Given the description of an element on the screen output the (x, y) to click on. 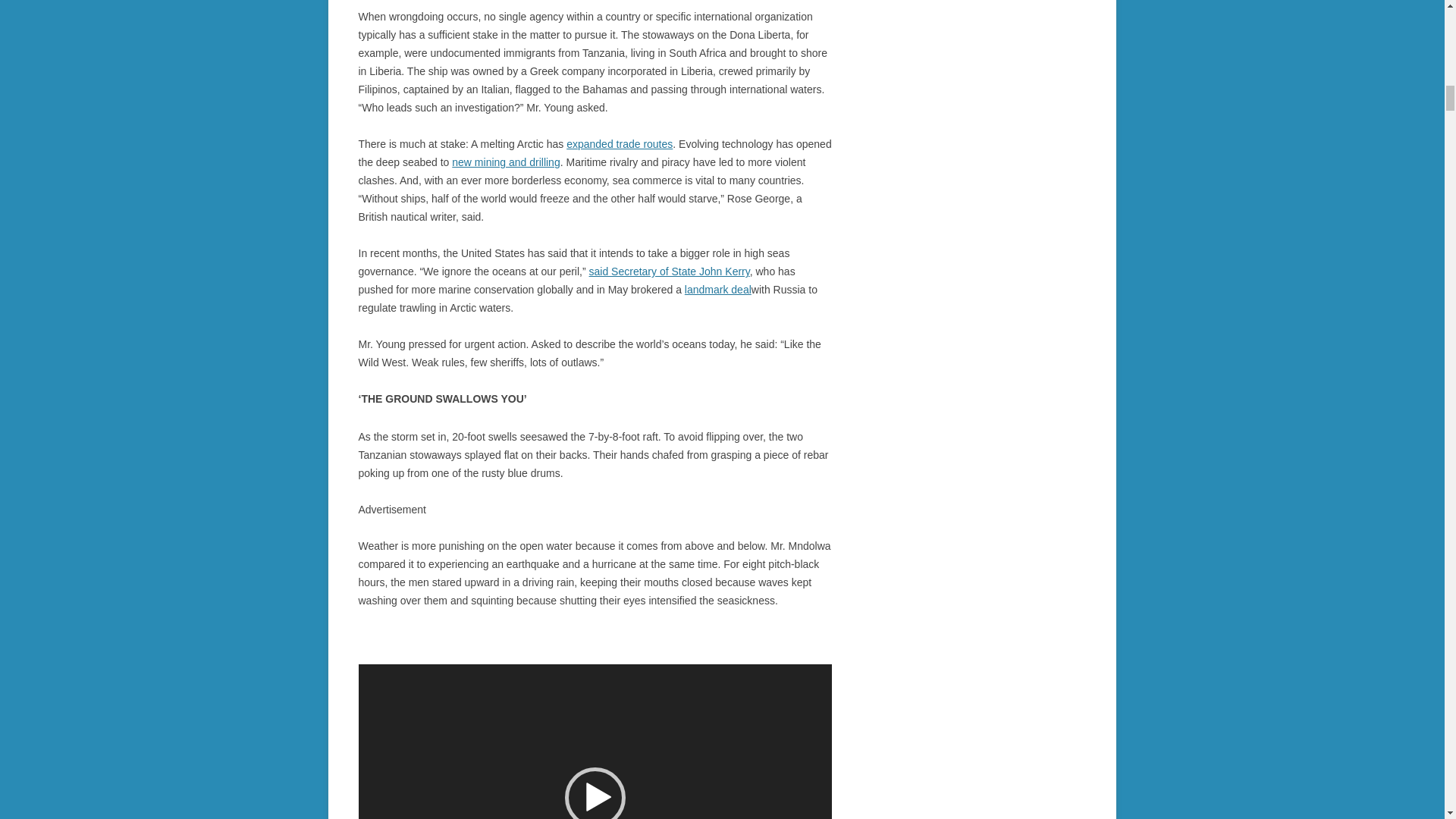
landmark deal (717, 289)
New York Times article (619, 143)
new mining and drilling (505, 162)
New York Times article (505, 162)
expanded trade routes (619, 143)
New York Times article (717, 289)
said Secretary of State John Kerry (669, 271)
John Kerry article (669, 271)
